Given the description of an element on the screen output the (x, y) to click on. 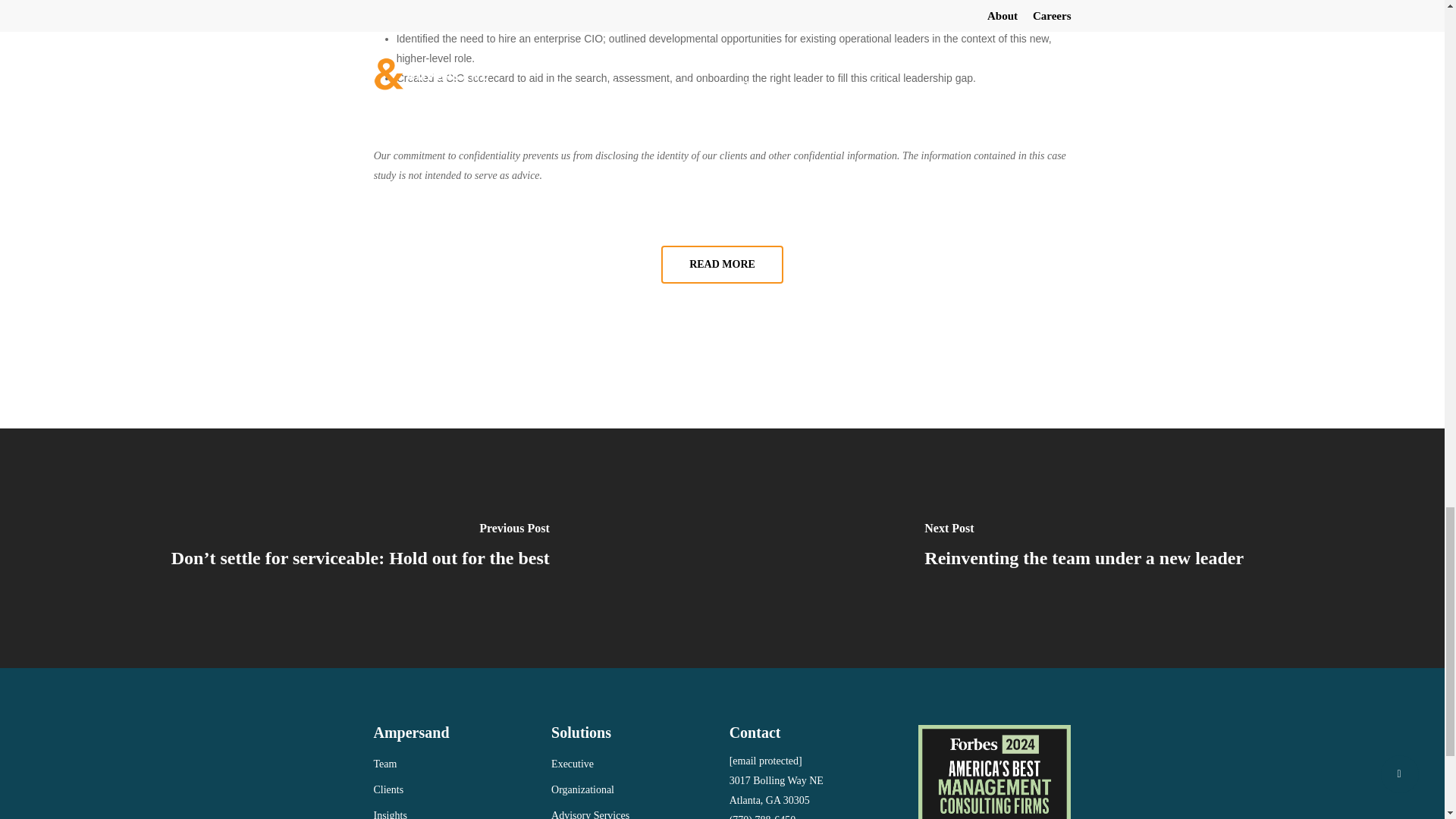
Insights (454, 812)
READ MORE (722, 264)
Executive (632, 763)
Team (454, 763)
Organizational (632, 790)
Advisory Services (632, 812)
Clients (454, 790)
